Given the description of an element on the screen output the (x, y) to click on. 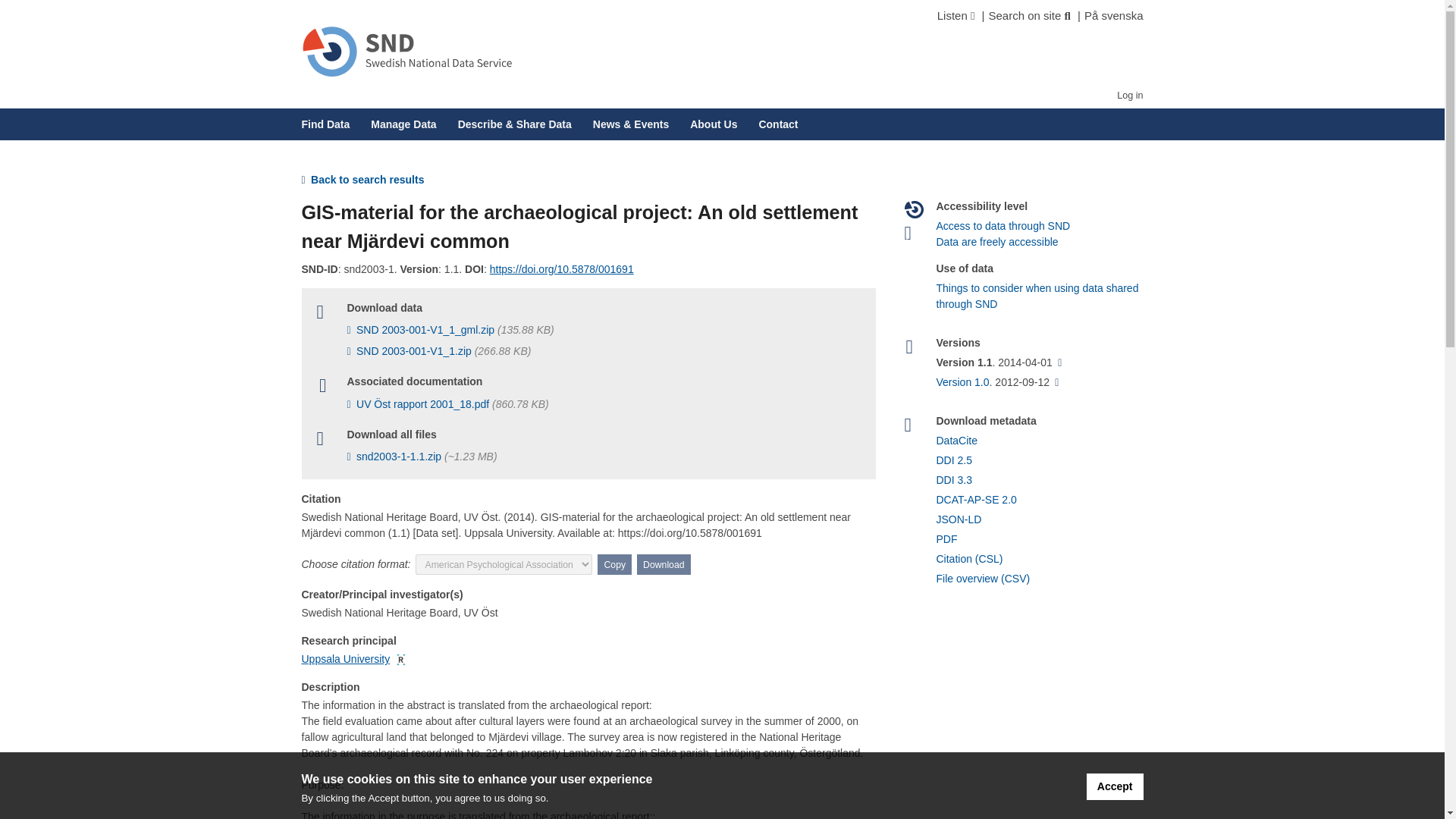
Log in (1129, 95)
Find Data (326, 124)
Search on site (1024, 15)
Listen (952, 15)
Listen with ReadSpeaker (952, 15)
Manage Data (402, 124)
